Given the description of an element on the screen output the (x, y) to click on. 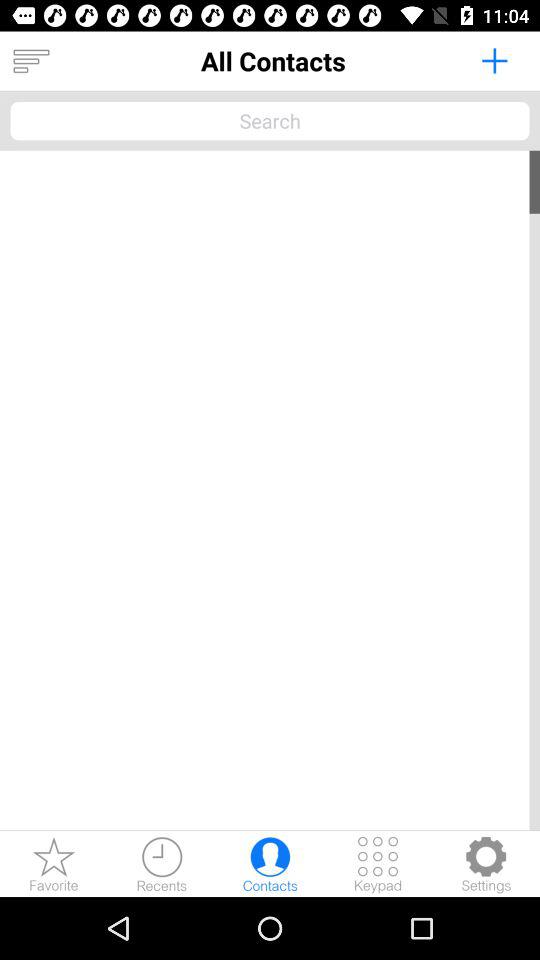
open menu (31, 61)
